Given the description of an element on the screen output the (x, y) to click on. 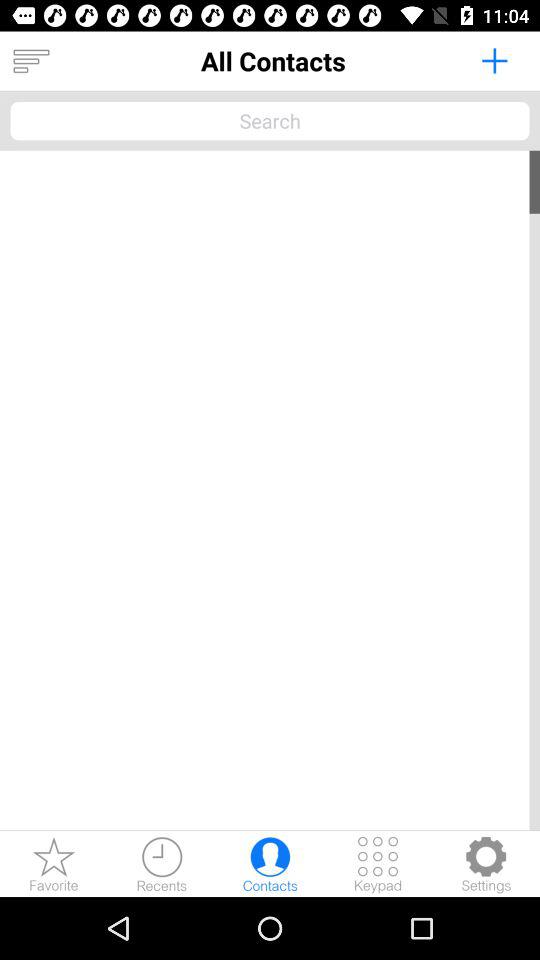
open menu (31, 61)
